Given the description of an element on the screen output the (x, y) to click on. 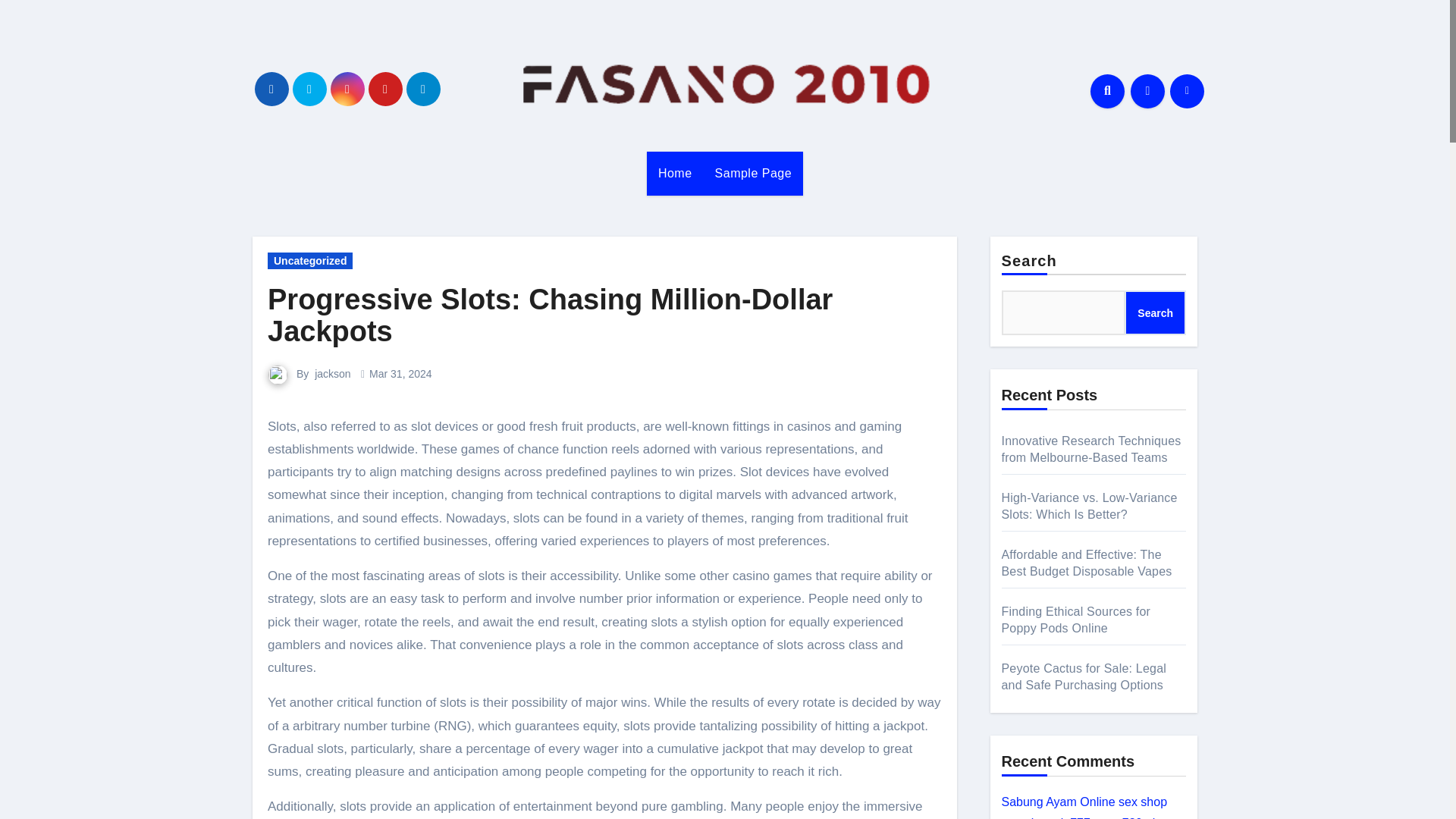
jackson (332, 373)
Home (674, 173)
Progressive Slots: Chasing Million-Dollar Jackpots (549, 315)
Home (674, 173)
Uncategorized (309, 260)
Sample Page (753, 173)
